Given the description of an element on the screen output the (x, y) to click on. 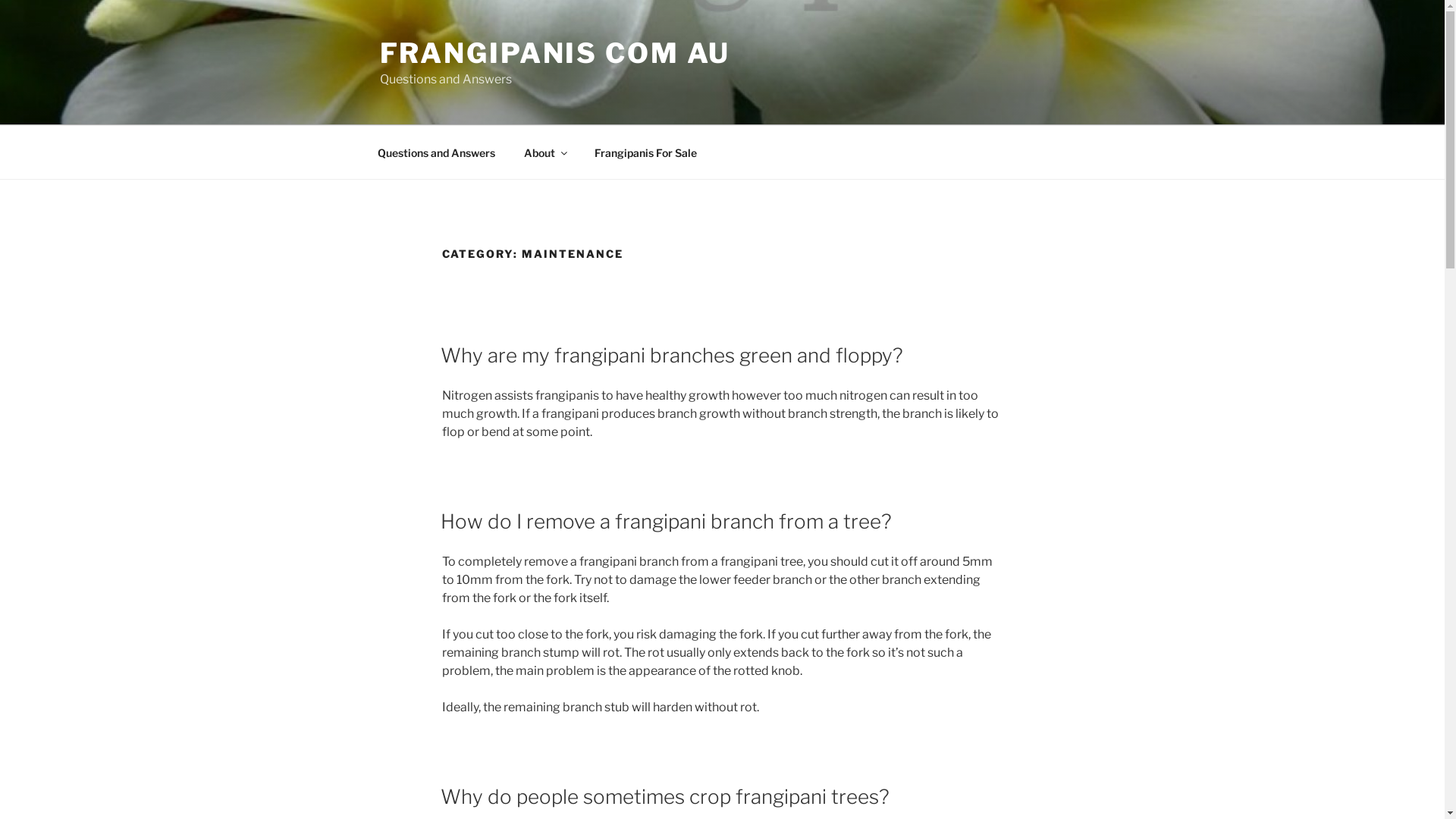
Why are my frangipani branches green and floppy? Element type: text (670, 355)
Frangipanis For Sale Element type: text (644, 151)
How do I remove a frangipani branch from a tree? Element type: text (665, 521)
FRANGIPANIS COM AU Element type: text (554, 52)
Why do people sometimes crop frangipani trees? Element type: text (663, 796)
About Element type: text (545, 151)
Questions and Answers Element type: text (436, 151)
